Given the description of an element on the screen output the (x, y) to click on. 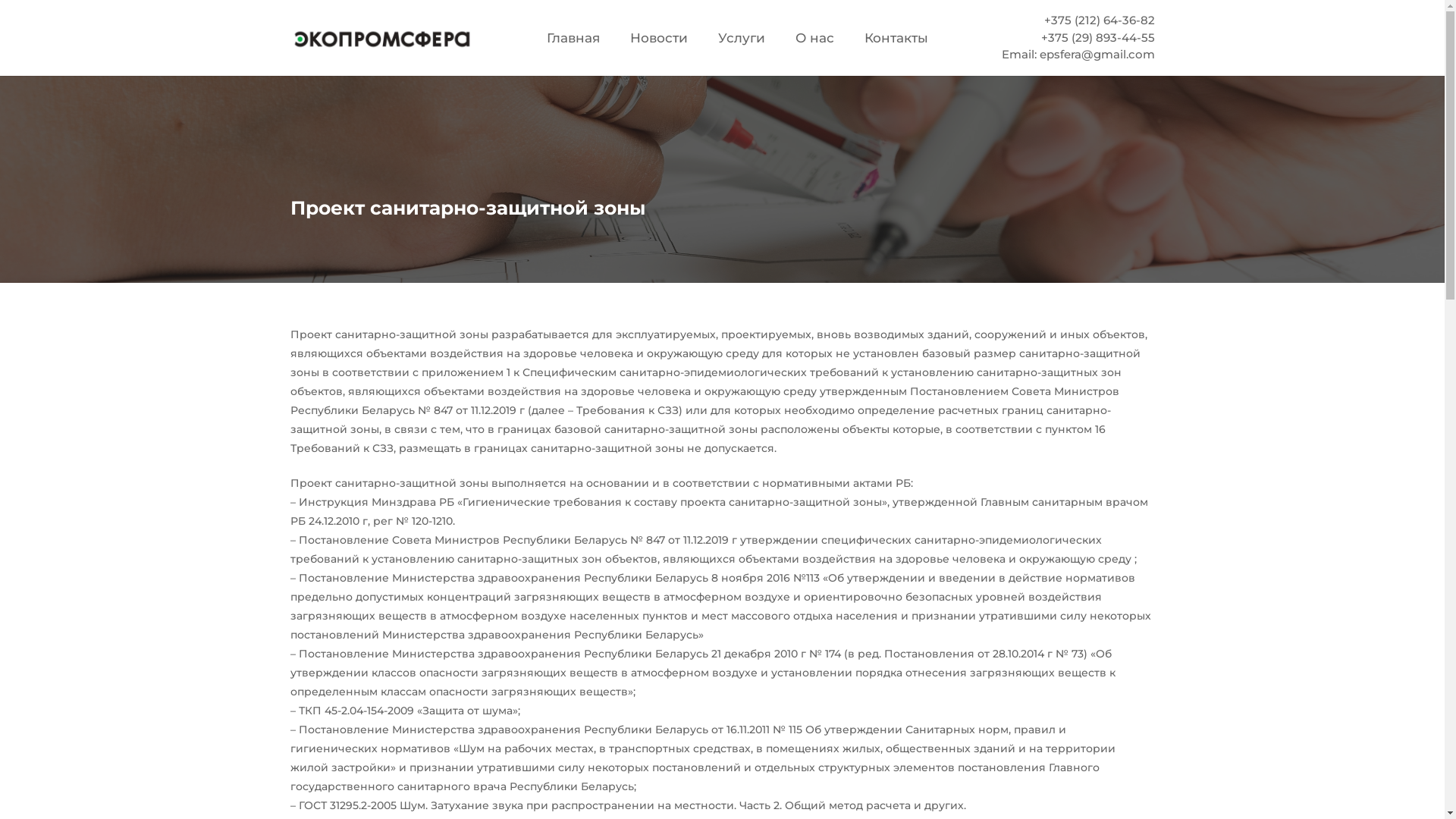
Email: epsfera@gmail.com Element type: text (1077, 54)
+375 (212) 64-36-82 Element type: text (1099, 19)
+375 (29) 893-44-55 Element type: text (1097, 37)
